Given the description of an element on the screen output the (x, y) to click on. 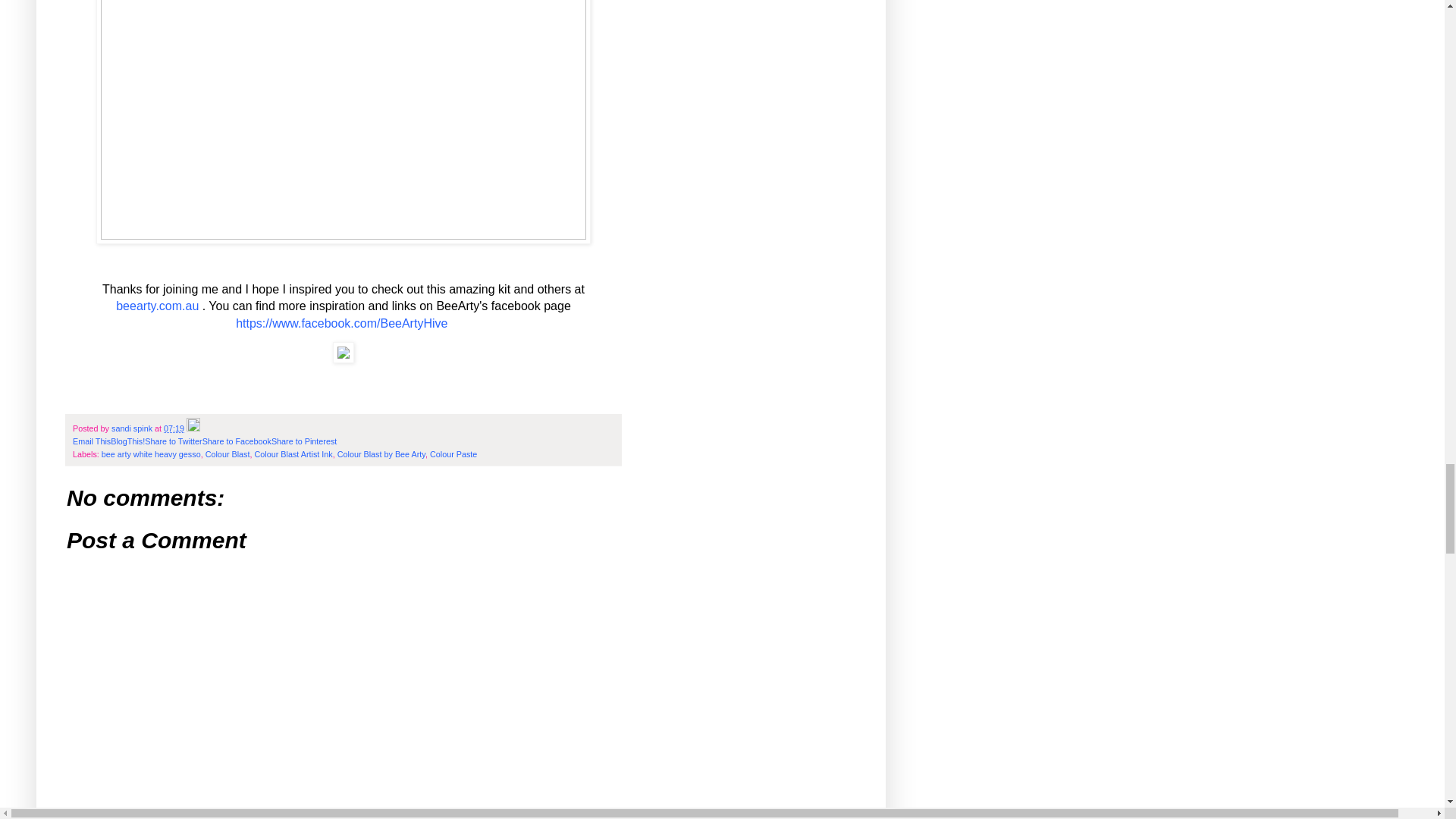
beearty.com.au (157, 305)
07:19 (173, 428)
Edit Post (193, 428)
Colour Paste (453, 453)
author profile (133, 428)
Share to Twitter (173, 440)
Share to Pinterest (303, 440)
Share to Facebook (236, 440)
Colour Blast Artist Ink (292, 453)
Colour Blast by Bee Arty (381, 453)
permanent link (173, 428)
Share to Pinterest (303, 440)
Share to Twitter (173, 440)
sandi spink (133, 428)
bee arty white heavy gesso (150, 453)
